Given the description of an element on the screen output the (x, y) to click on. 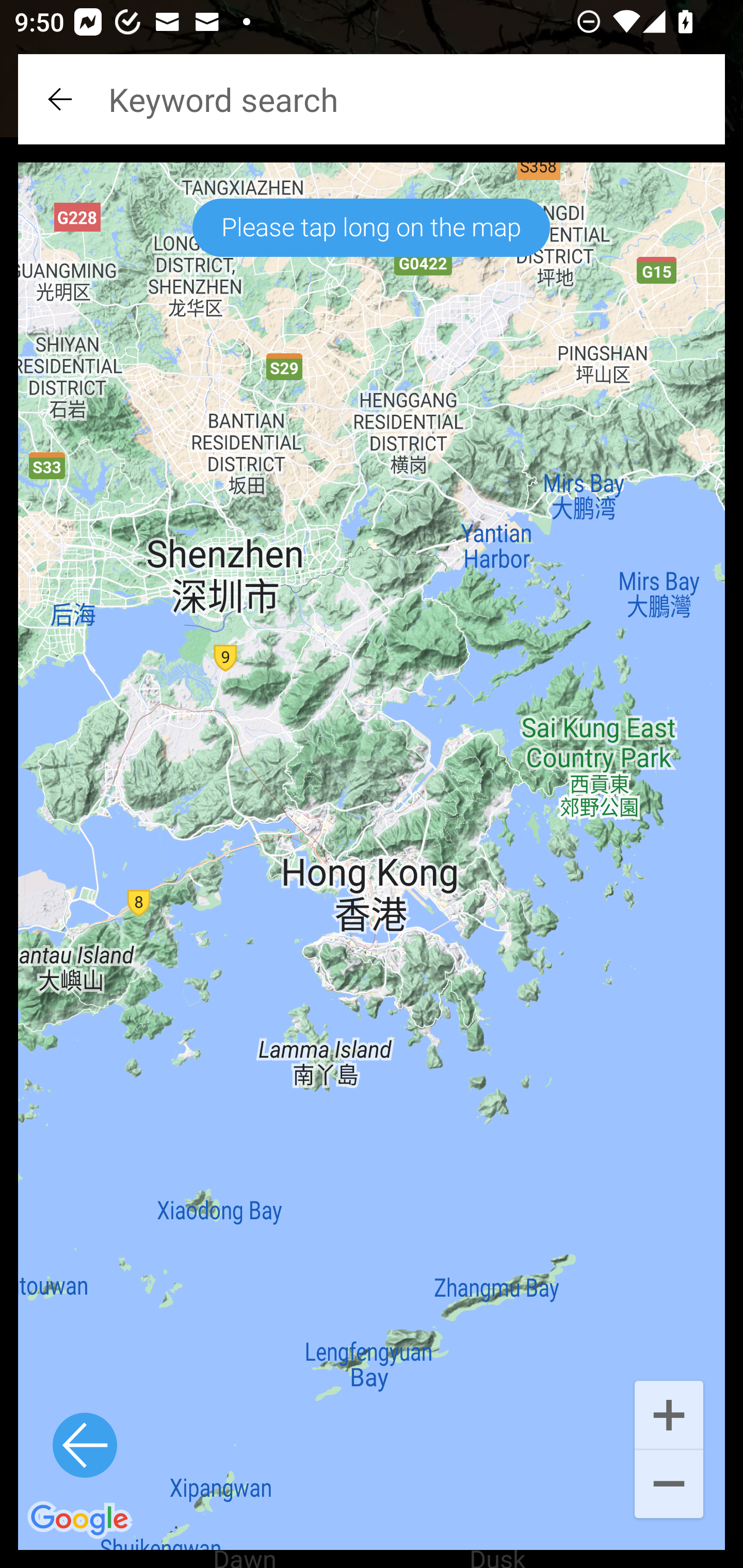
Keyword search (371, 99)
 (61, 99)
Zoom in (668, 1413)
Zoom out (668, 1485)
